Given the description of an element on the screen output the (x, y) to click on. 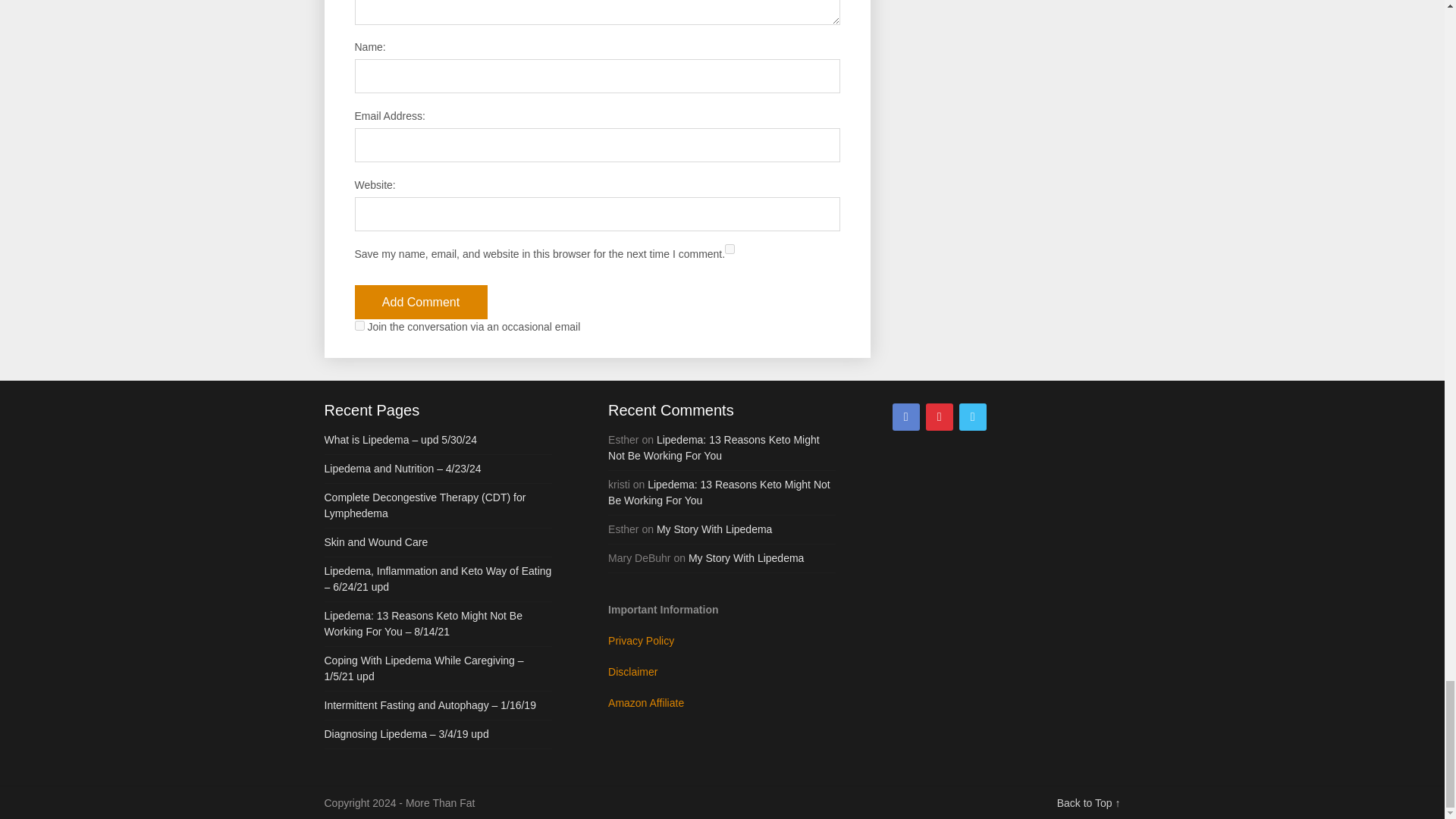
Facebook (906, 416)
Twitter (973, 416)
Add Comment (421, 302)
1 (360, 325)
yes (730, 248)
Pinterest (939, 416)
